Given the description of an element on the screen output the (x, y) to click on. 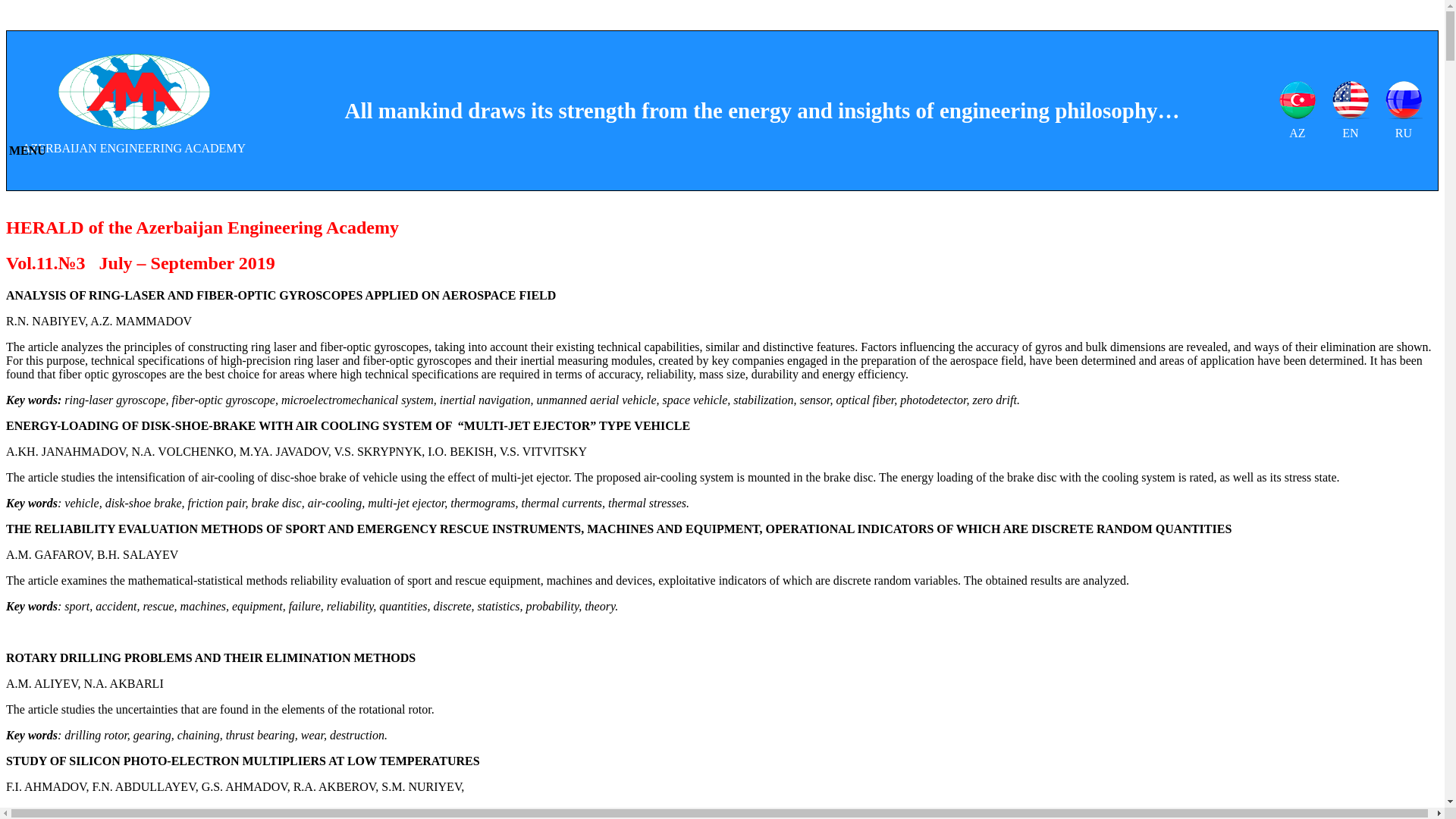
EN Element type: text (1350, 110)
RU Element type: text (1403, 110)
AZ Element type: text (1297, 110)
